Given the description of an element on the screen output the (x, y) to click on. 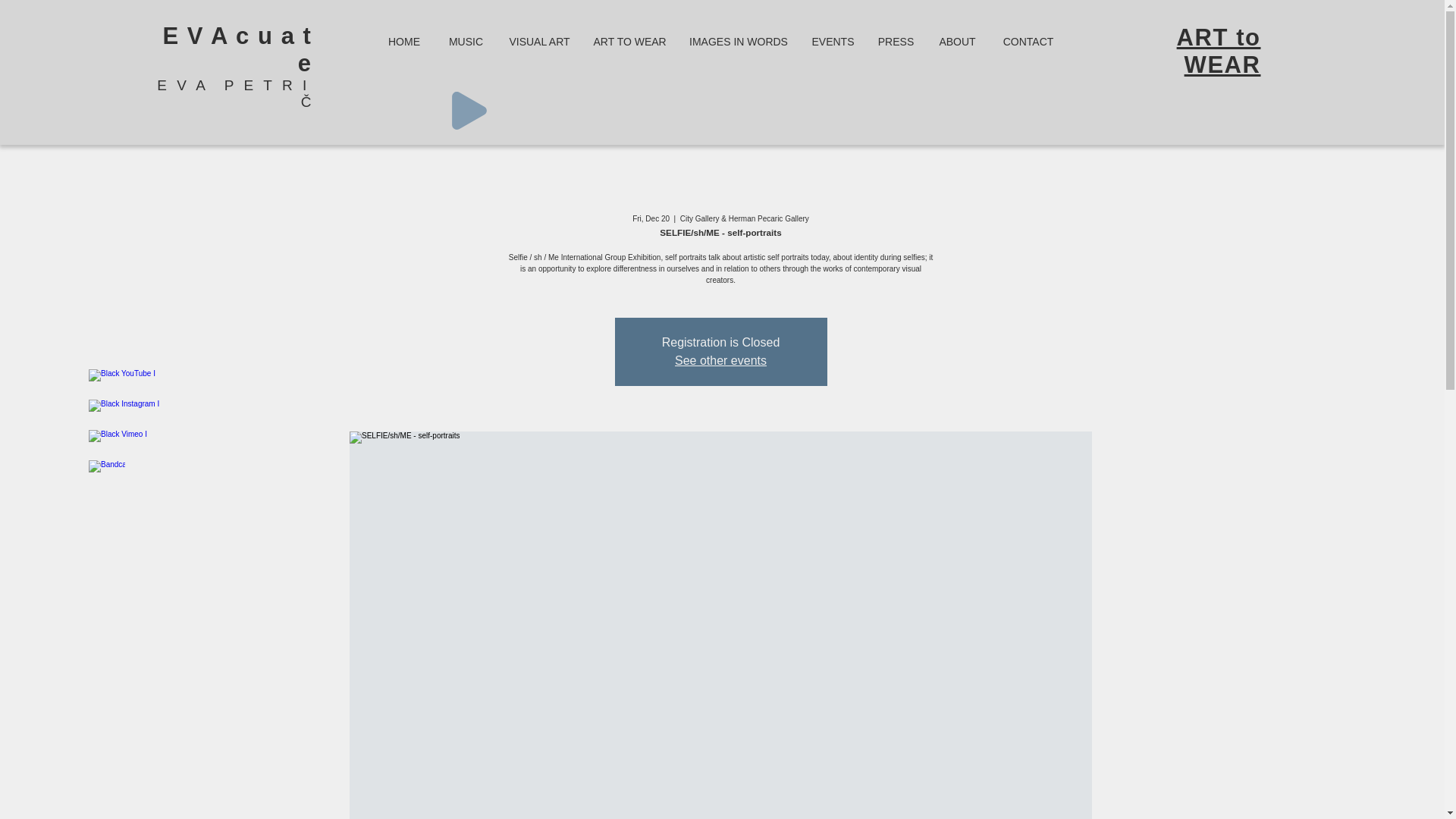
HOME (402, 41)
E V A c u a t e (236, 49)
ART TO WEAR (630, 41)
ART to WEAR (1218, 50)
See other events (721, 359)
PRESS (895, 41)
MUSIC (466, 41)
EVENTS (832, 41)
CONTACT (1027, 41)
ABOUT (956, 41)
